Given the description of an element on the screen output the (x, y) to click on. 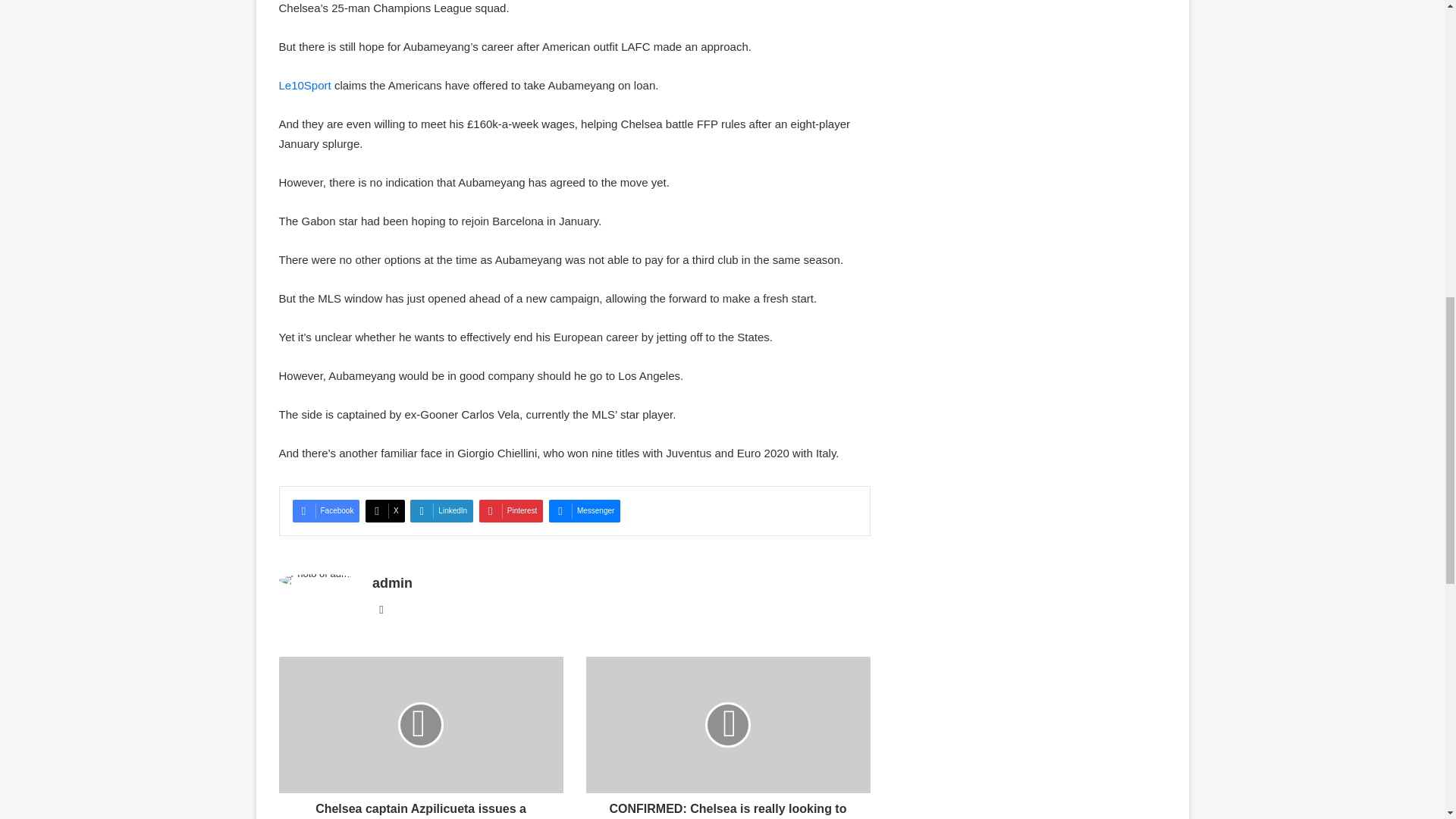
LinkedIn (441, 510)
Le10Sport (305, 84)
Facebook (325, 510)
X (384, 510)
LinkedIn (441, 510)
Messenger (584, 510)
Pinterest (511, 510)
Website (381, 609)
X (384, 510)
Pinterest (511, 510)
Facebook (325, 510)
Messenger (584, 510)
admin (392, 582)
